Given the description of an element on the screen output the (x, y) to click on. 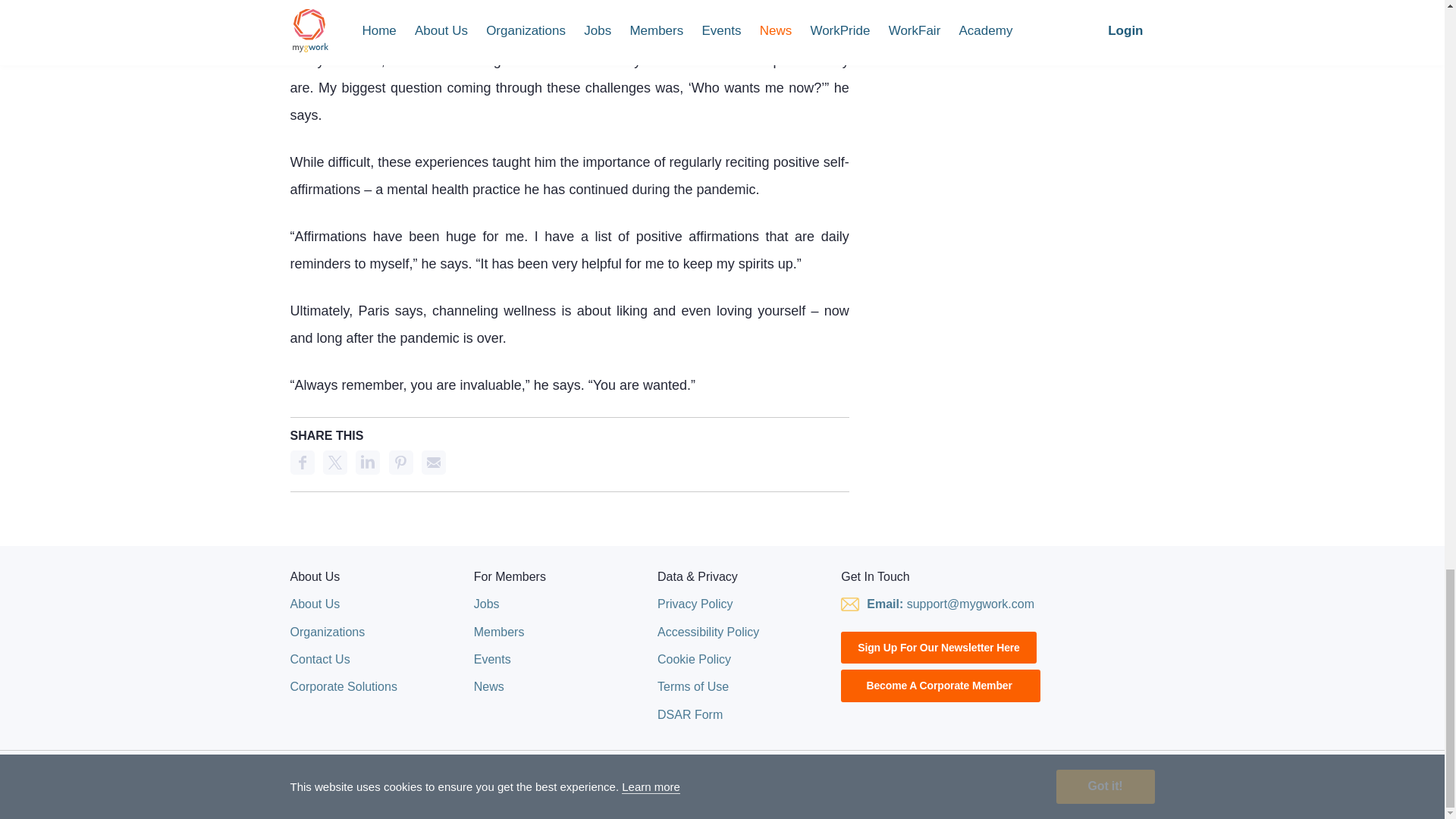
myGwork (309, 785)
DSAR Form (690, 714)
Cookie Policy (694, 658)
   Become A Corporate Member     (941, 685)
Privacy Policy (695, 603)
Jobs (486, 603)
Members (499, 631)
Linkedin (367, 462)
Organizations (327, 631)
About Us (314, 603)
